Given the description of an element on the screen output the (x, y) to click on. 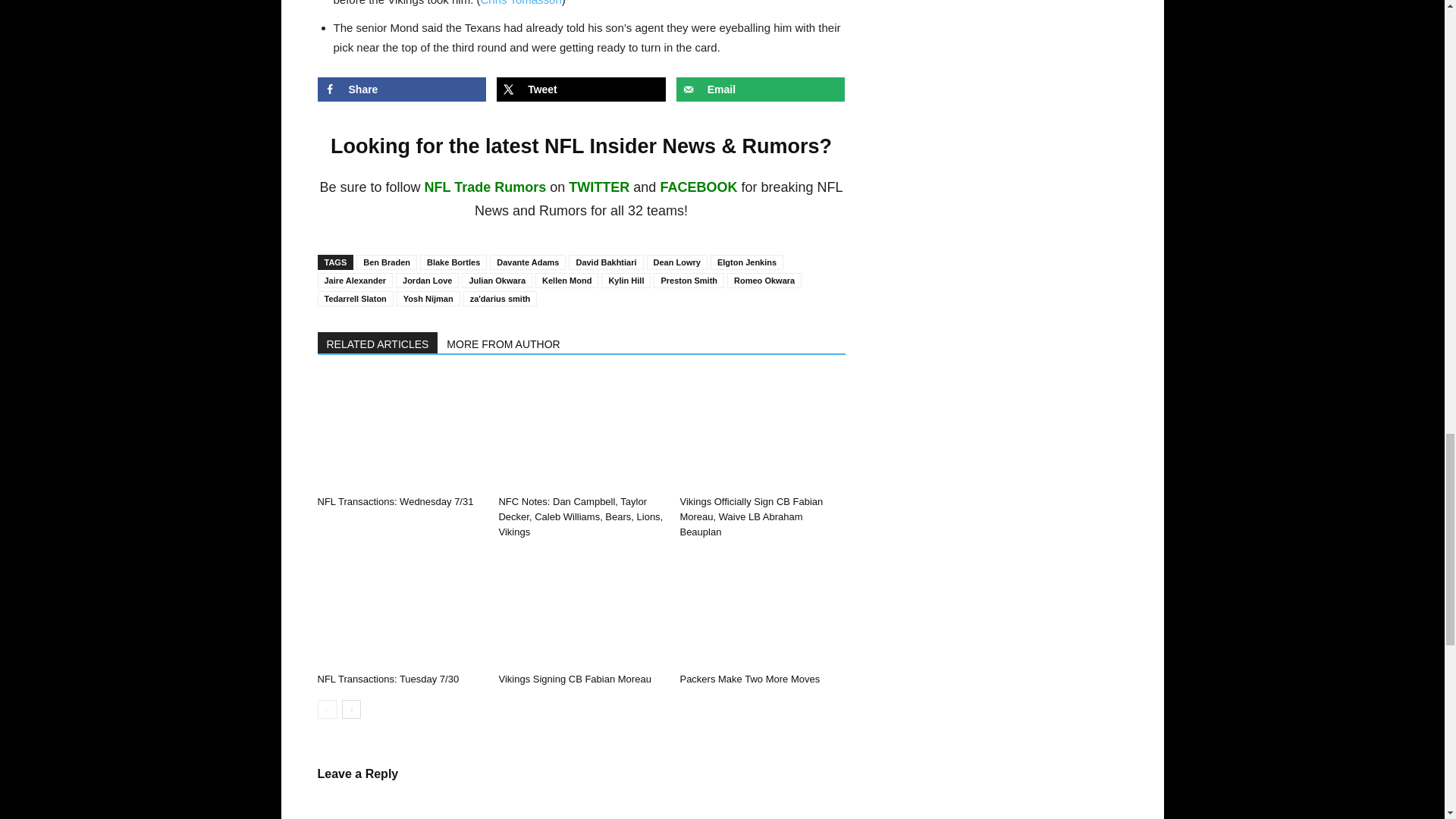
Share on Facebook (401, 88)
Send over email (761, 88)
Share on X (580, 88)
